Given the description of an element on the screen output the (x, y) to click on. 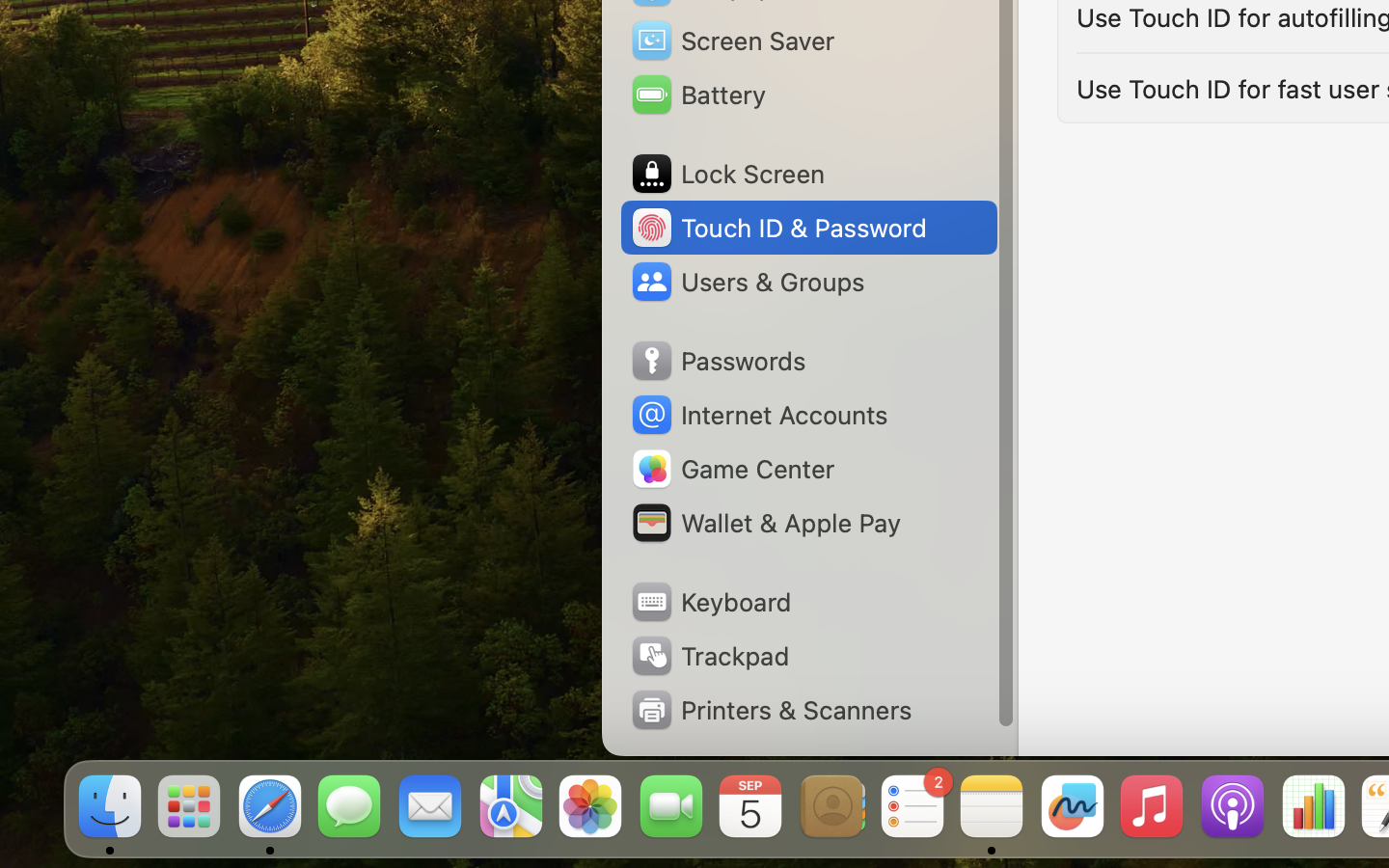
Passwords Element type: AXStaticText (717, 360)
Trackpad Element type: AXStaticText (708, 655)
Internet Accounts Element type: AXStaticText (757, 414)
Users & Groups Element type: AXStaticText (746, 281)
Battery Element type: AXStaticText (696, 94)
